Given the description of an element on the screen output the (x, y) to click on. 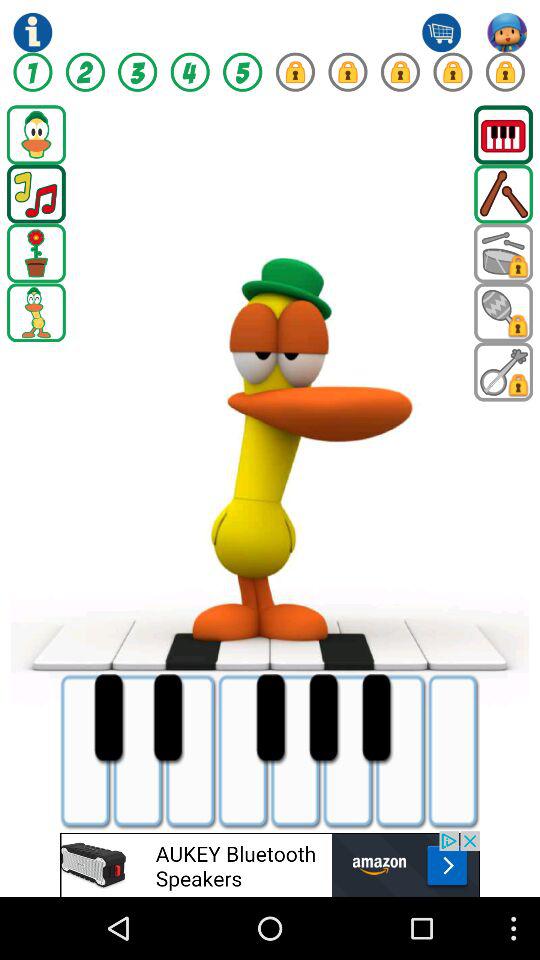
three option (137, 71)
